Given the description of an element on the screen output the (x, y) to click on. 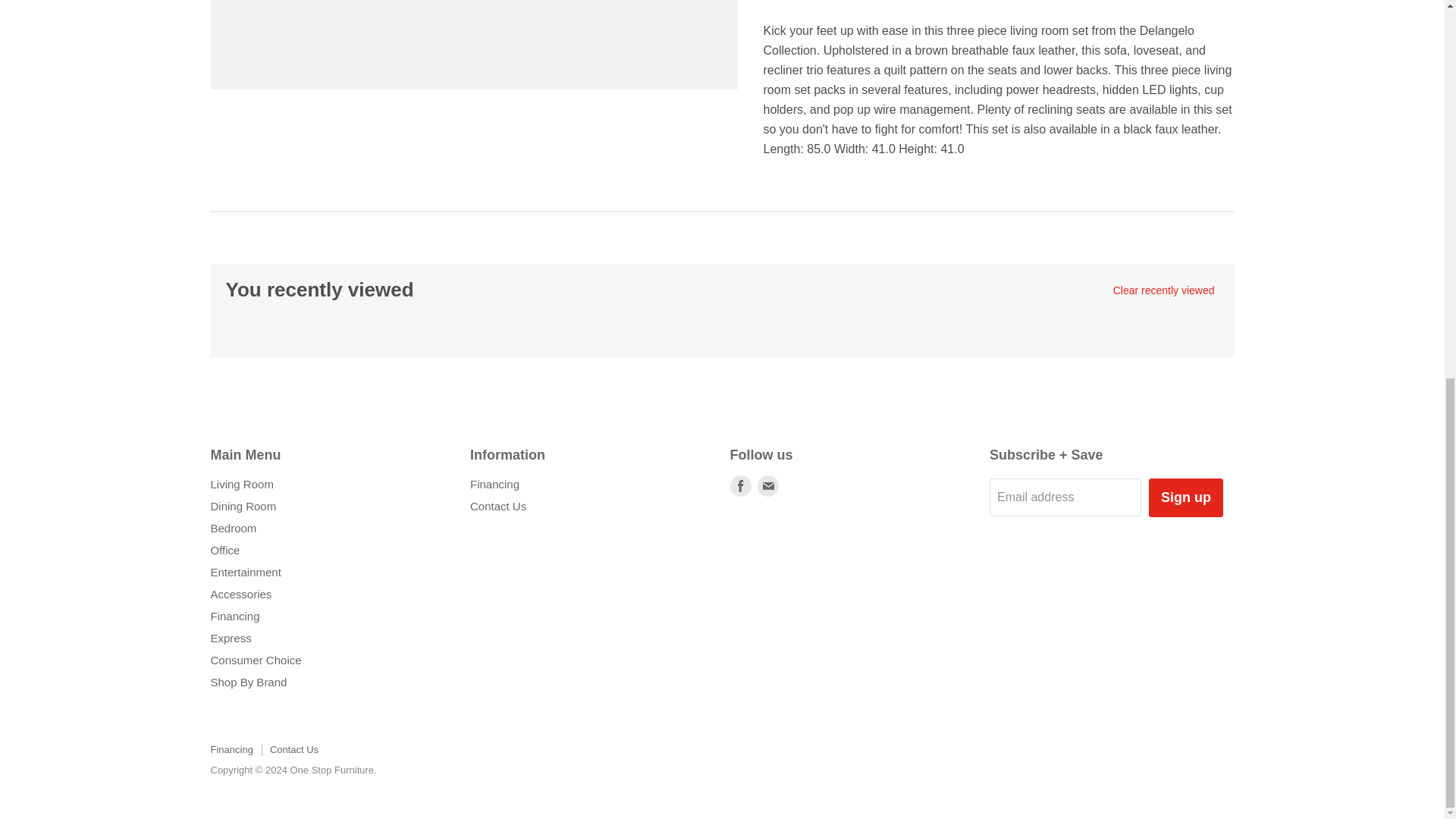
Facebook (740, 485)
E-mail (767, 485)
